Given the description of an element on the screen output the (x, y) to click on. 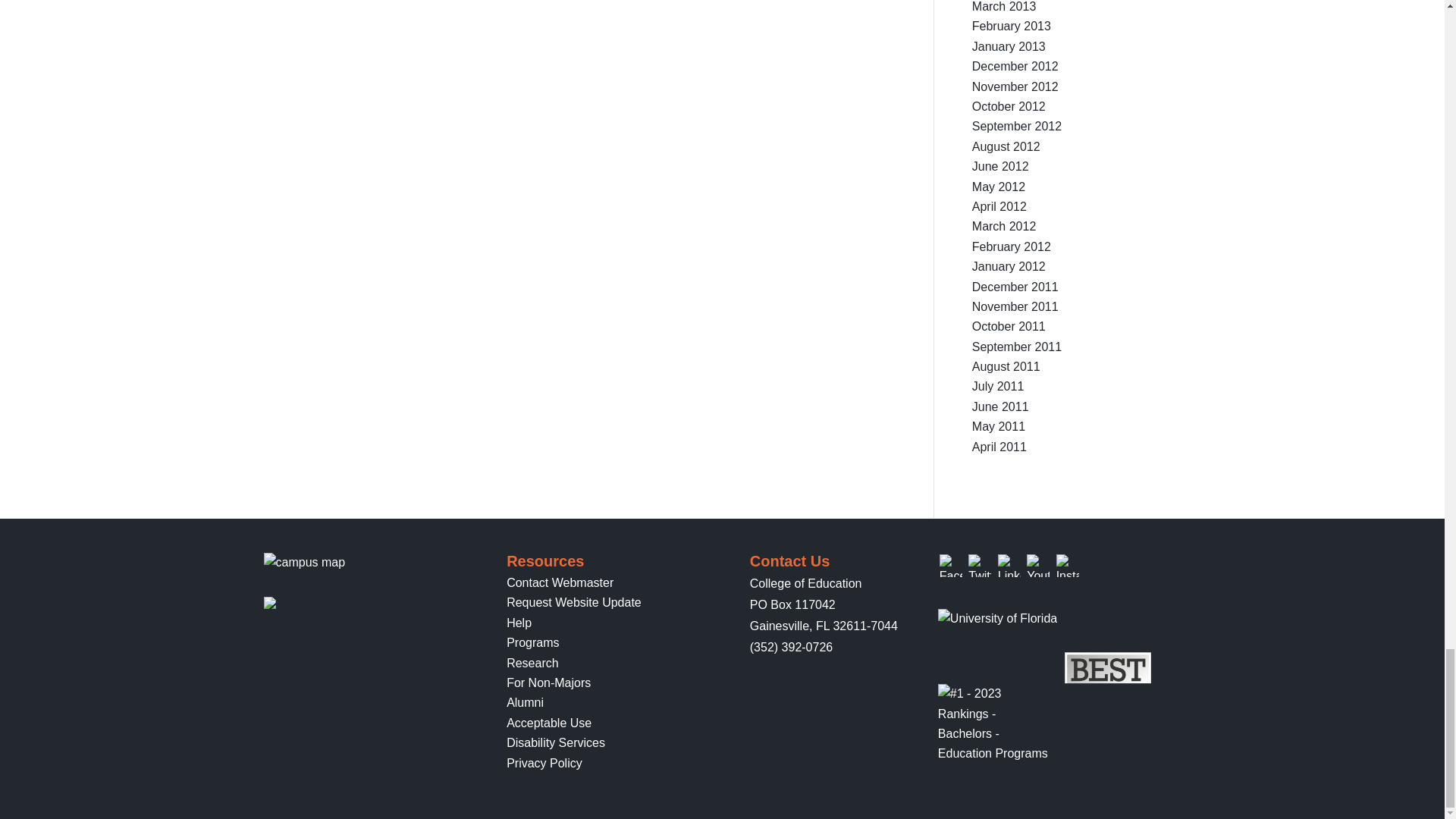
LinkedIn (1008, 565)
UF (997, 618)
Twitter (979, 565)
CAEP Accreditation (338, 604)
Instagram (1067, 565)
Facebook (950, 565)
Youtube (1037, 565)
campus map (304, 562)
